Given the description of an element on the screen output the (x, y) to click on. 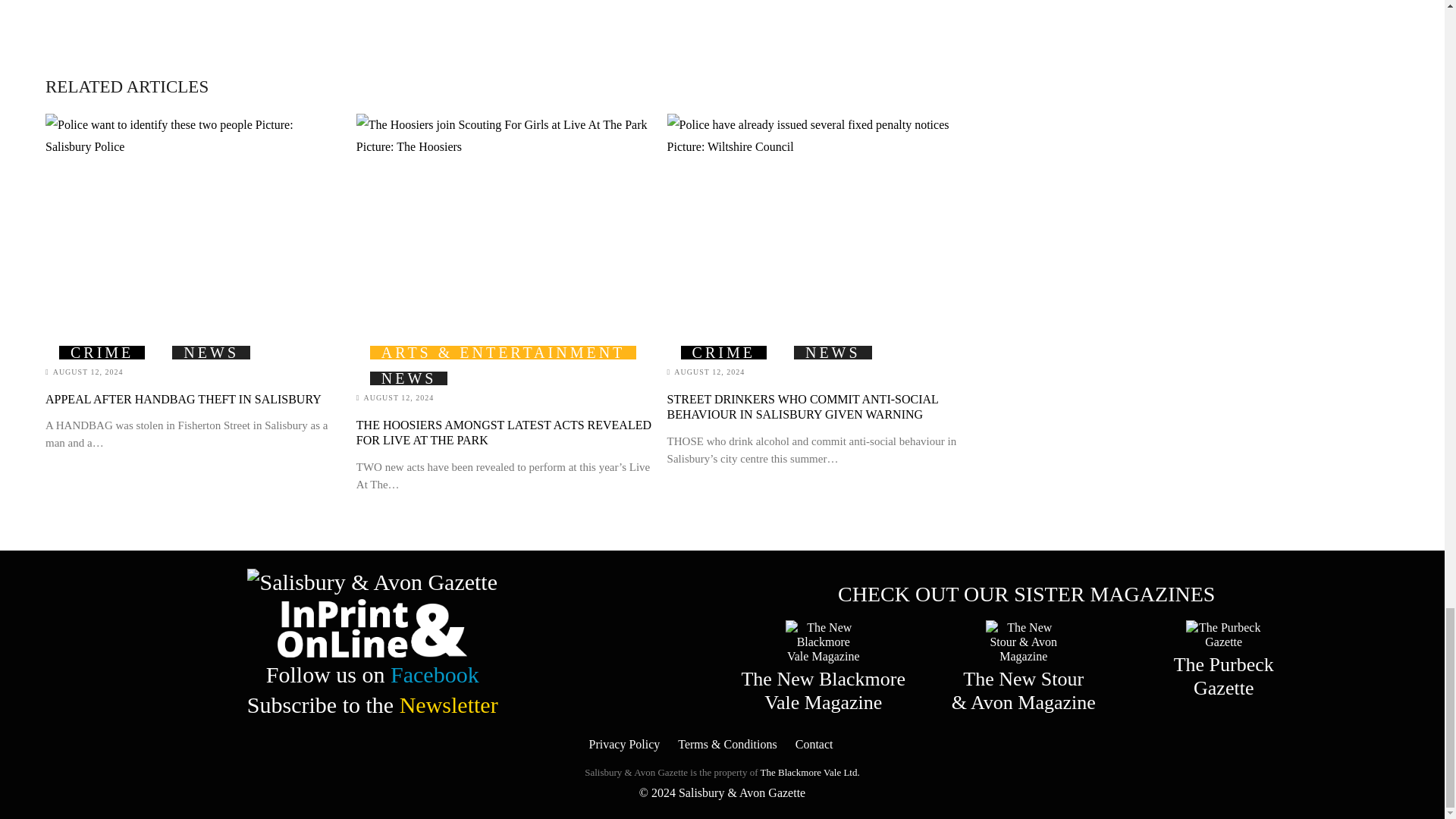
Appeal after handbag theft in Salisbury (192, 217)
